Given the description of an element on the screen output the (x, y) to click on. 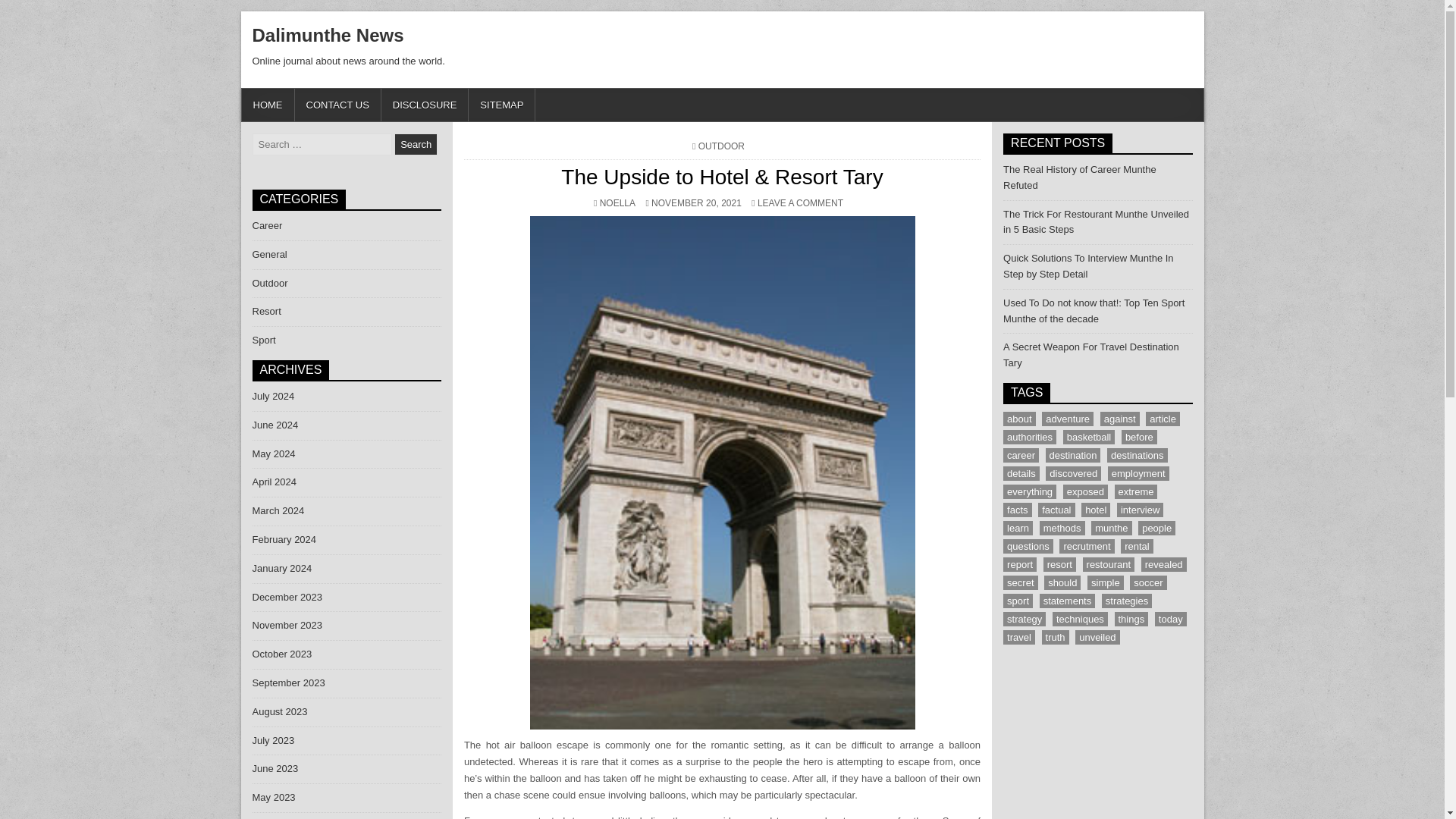
SITEMAP (501, 104)
April 2024 (274, 481)
OUTDOOR (616, 203)
DISCLOSURE (721, 145)
Outdoor (424, 104)
Career (268, 283)
May 2023 (266, 225)
September 2023 (273, 797)
January 2024 (287, 682)
Resort (281, 568)
Search (266, 310)
August 2023 (416, 144)
December 2023 (279, 711)
October 2023 (286, 596)
